Given the description of an element on the screen output the (x, y) to click on. 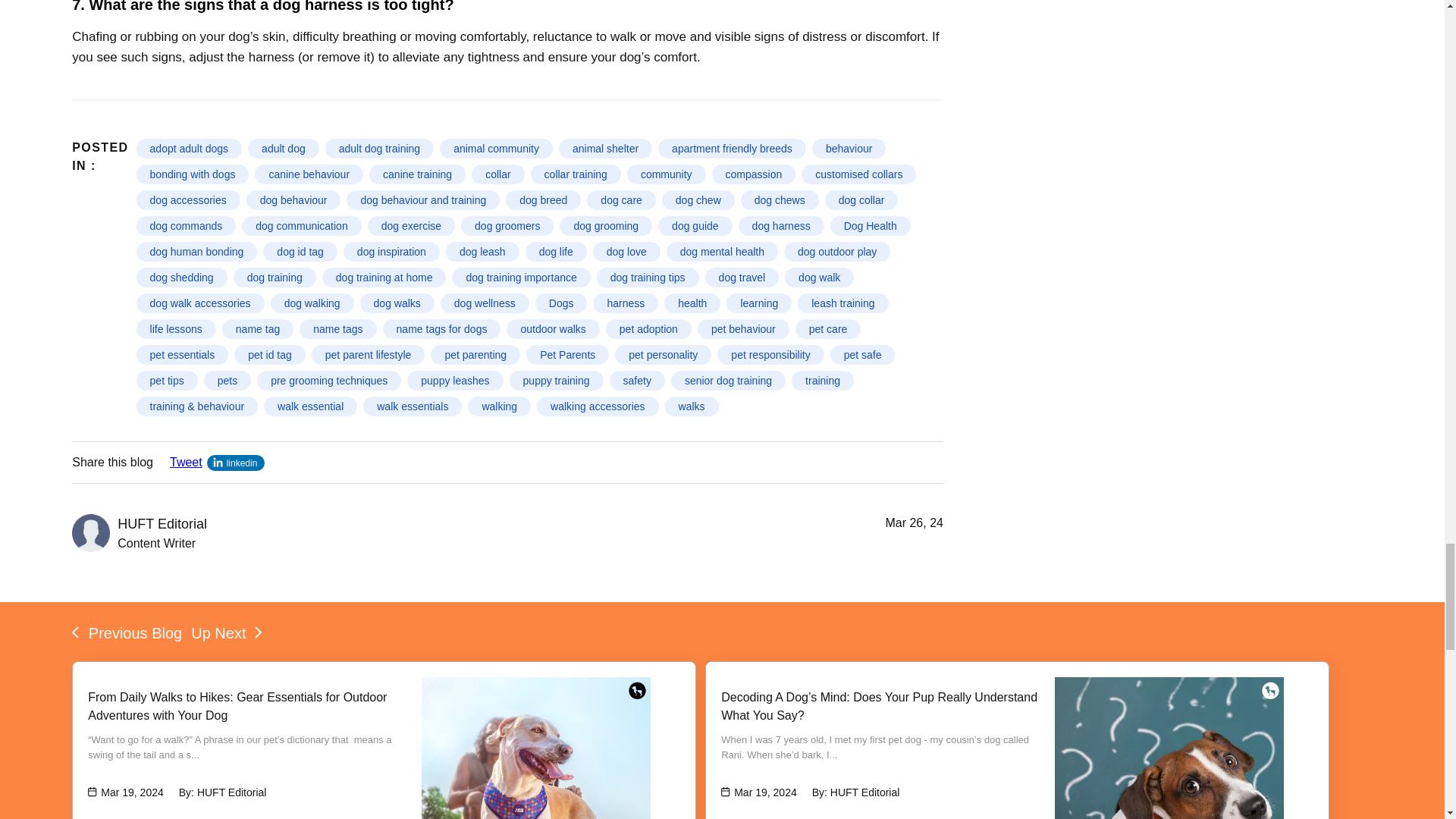
adopt adult dogs (189, 148)
adult dog (282, 148)
